Given the description of an element on the screen output the (x, y) to click on. 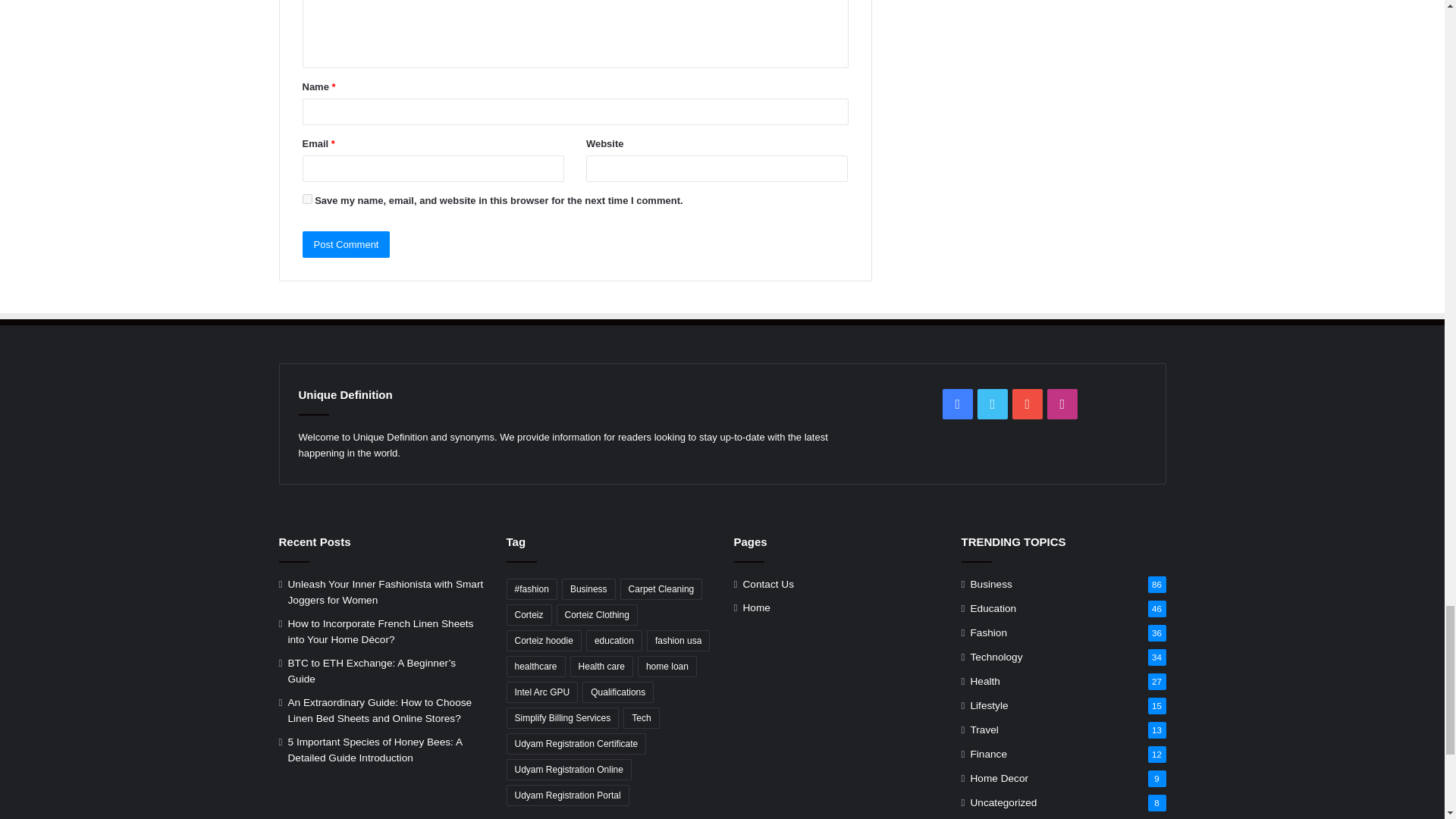
Post Comment (345, 243)
yes (306, 198)
